Given the description of an element on the screen output the (x, y) to click on. 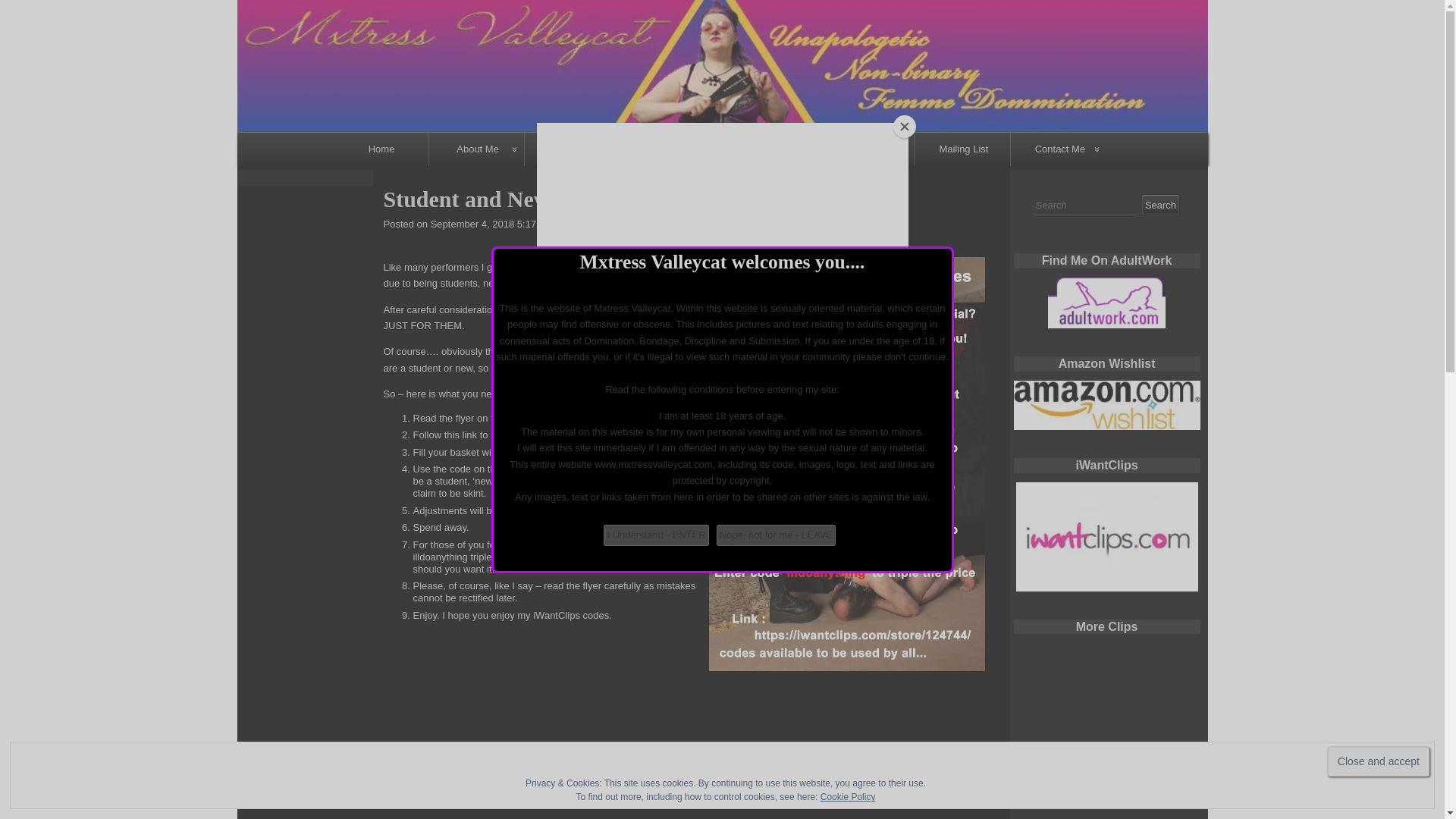
Comment (605, 224)
Mailing List (963, 149)
aw (1107, 302)
Search (1160, 205)
I Understand - ENTER (655, 535)
Wishlist (862, 183)
Fabulous Feet (670, 183)
Booking Request (1060, 183)
iwc (1107, 536)
September 4, 2018 5:17 pm (491, 224)
